Given the description of an element on the screen output the (x, y) to click on. 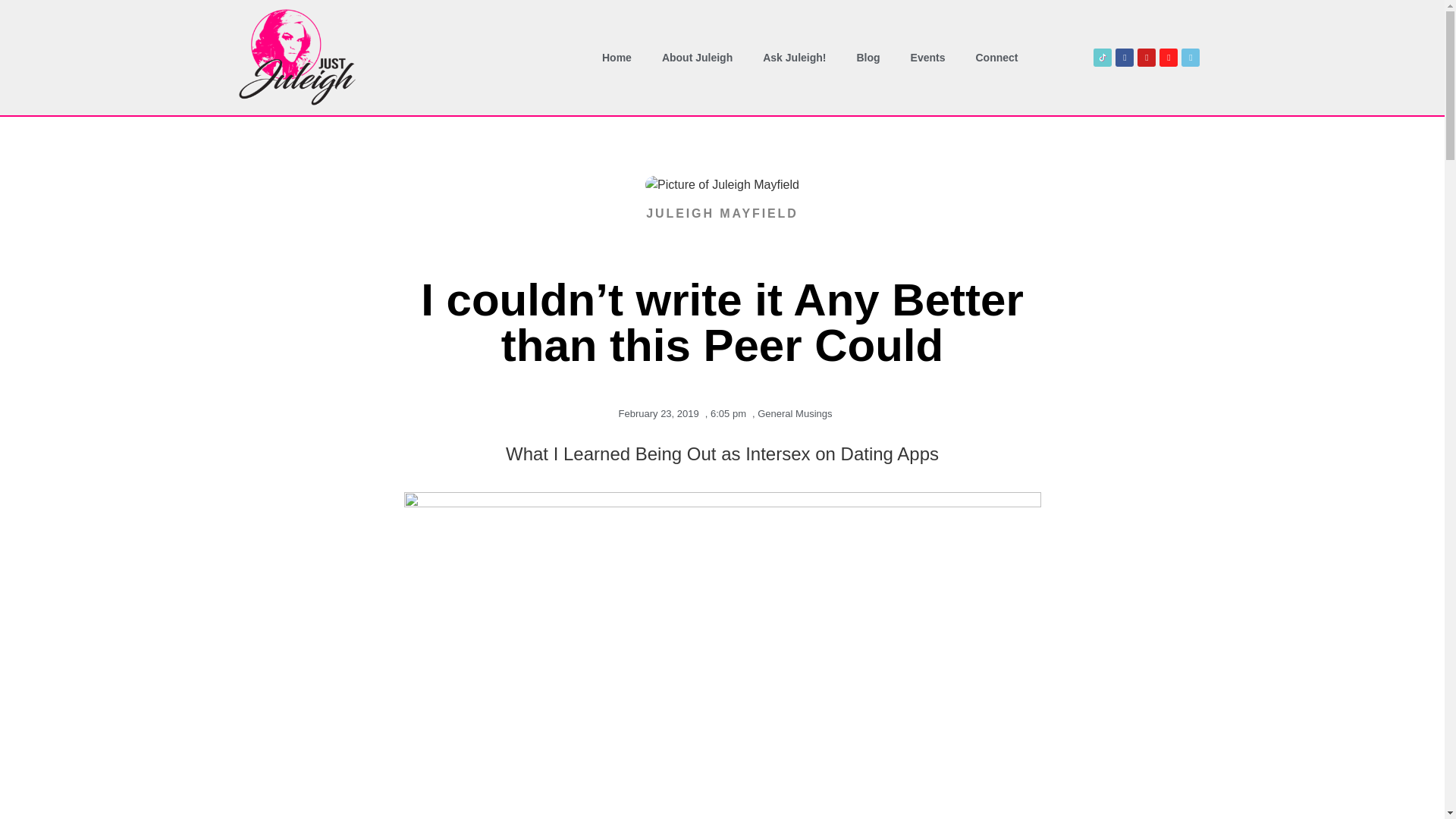
Home (616, 57)
February 23, 2019 (655, 413)
About Juleigh (697, 57)
Connect (995, 57)
Events (927, 57)
General Musings (794, 413)
Ask Juleigh! (794, 57)
Blog (868, 57)
